Given the description of an element on the screen output the (x, y) to click on. 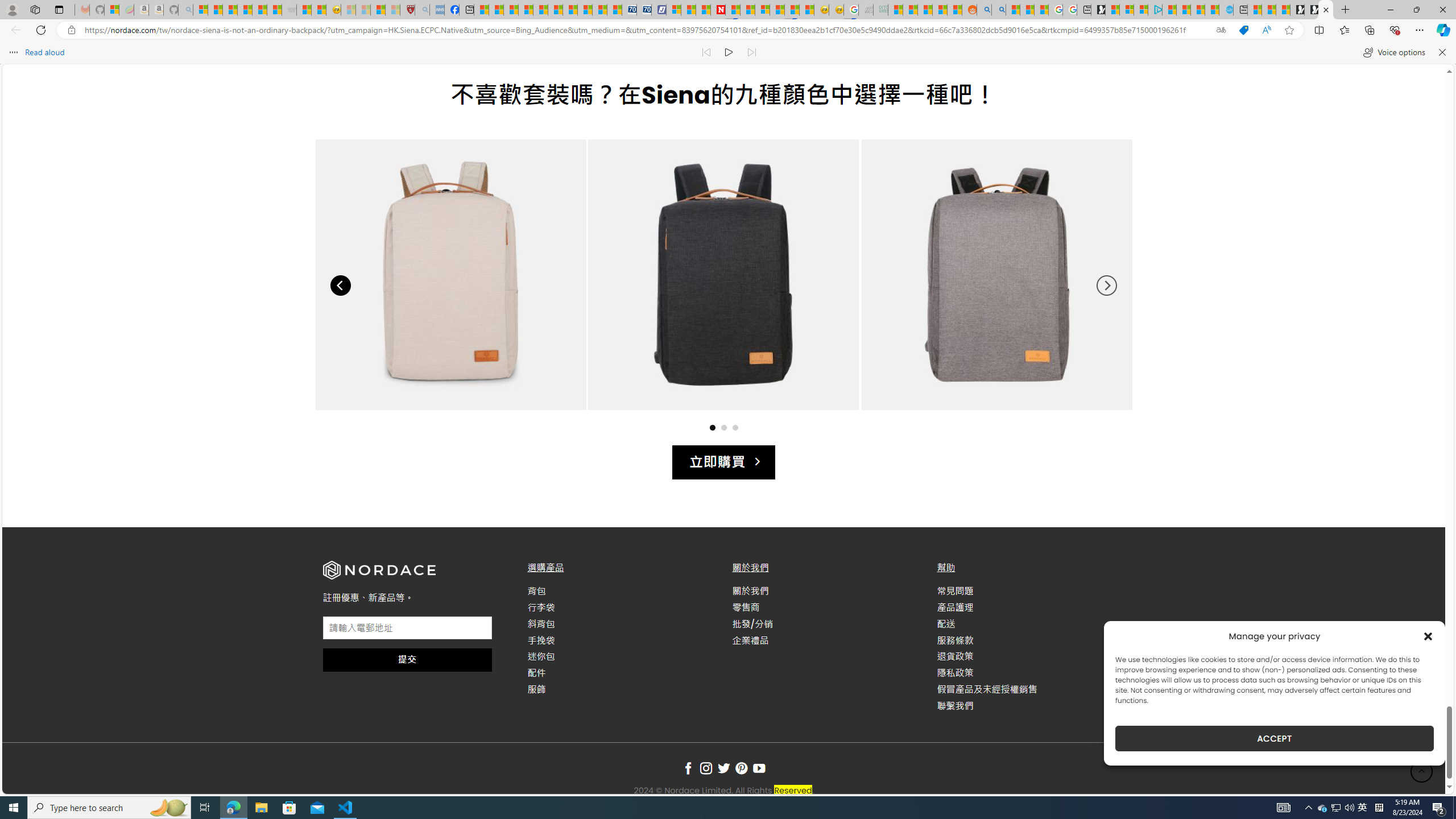
Climate Damage Becomes Too Severe To Reverse (525, 9)
Follow on Instagram (705, 768)
Robert H. Shmerling, MD - Harvard Health (406, 9)
Next (1106, 285)
This site has coupons! Shopping in Microsoft Edge (1243, 29)
Class: flickity-button-icon (1106, 285)
Settings and more (Alt+F) (1419, 29)
View site information (70, 29)
